Given the description of an element on the screen output the (x, y) to click on. 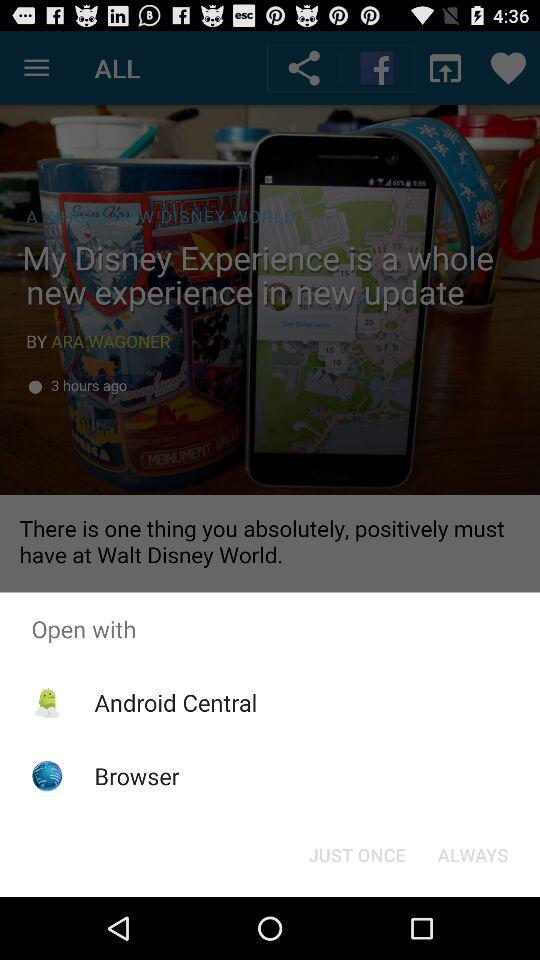
jump to browser item (136, 775)
